Given the description of an element on the screen output the (x, y) to click on. 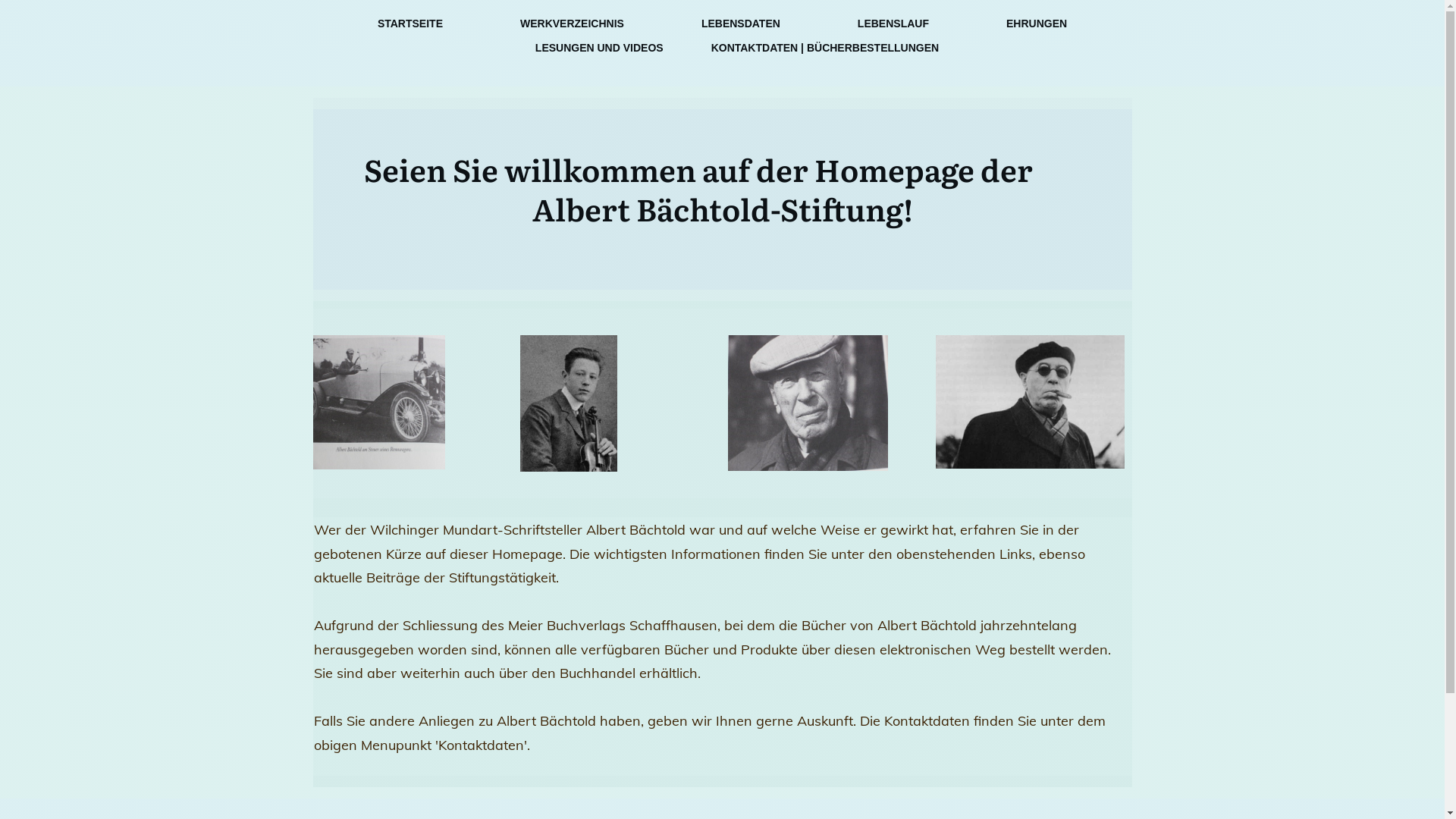
AlbertB2 Element type: hover (378, 402)
WERKVERZEICHNIS Element type: text (572, 23)
LESUNGEN UND VIDEOS Element type: text (599, 47)
AlbertB4 Element type: hover (808, 403)
Albert-Baechtold-19xx Element type: hover (1029, 402)
Albert-Baechtold-1912 Element type: hover (568, 403)
LEBENSLAUF Element type: text (892, 23)
STARTSEITE Element type: text (409, 23)
LEBENSDATEN Element type: text (740, 23)
EHRUNGEN Element type: text (1036, 23)
